Given the description of an element on the screen output the (x, y) to click on. 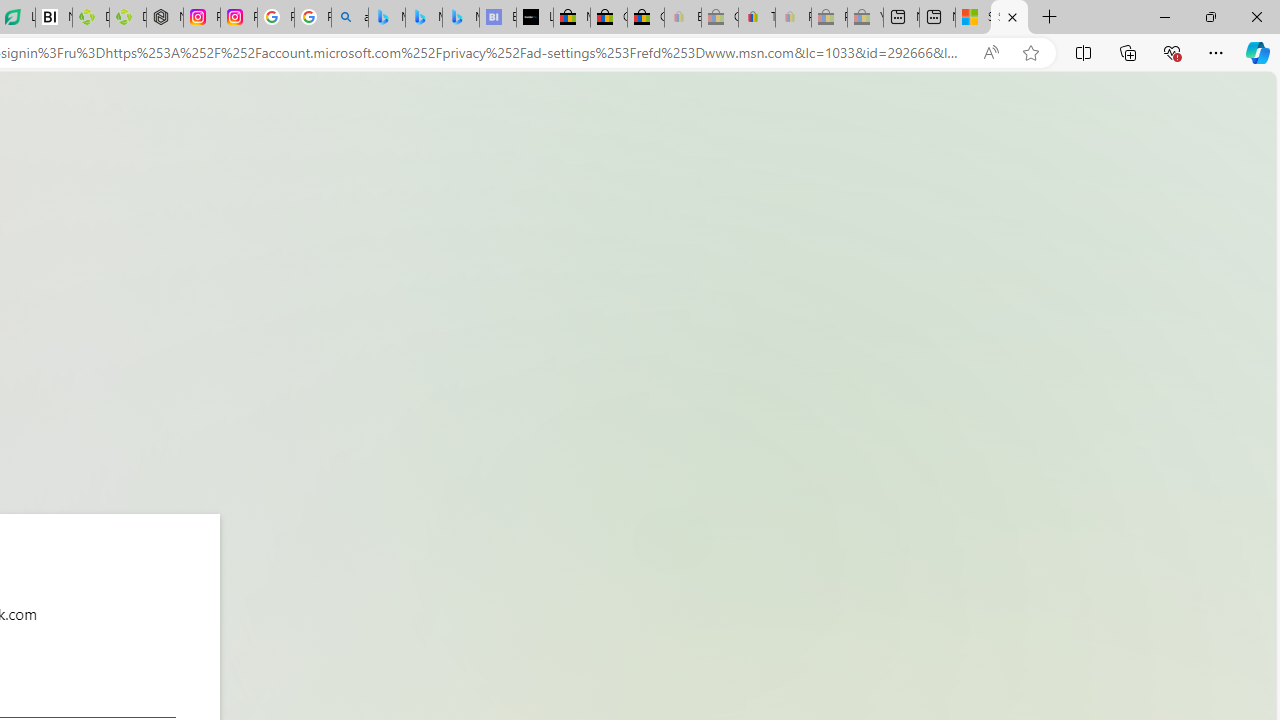
Shanghai, China hourly forecast | Microsoft Weather (973, 17)
Nordace - Nordace Edin Collection (165, 17)
